Given the description of an element on the screen output the (x, y) to click on. 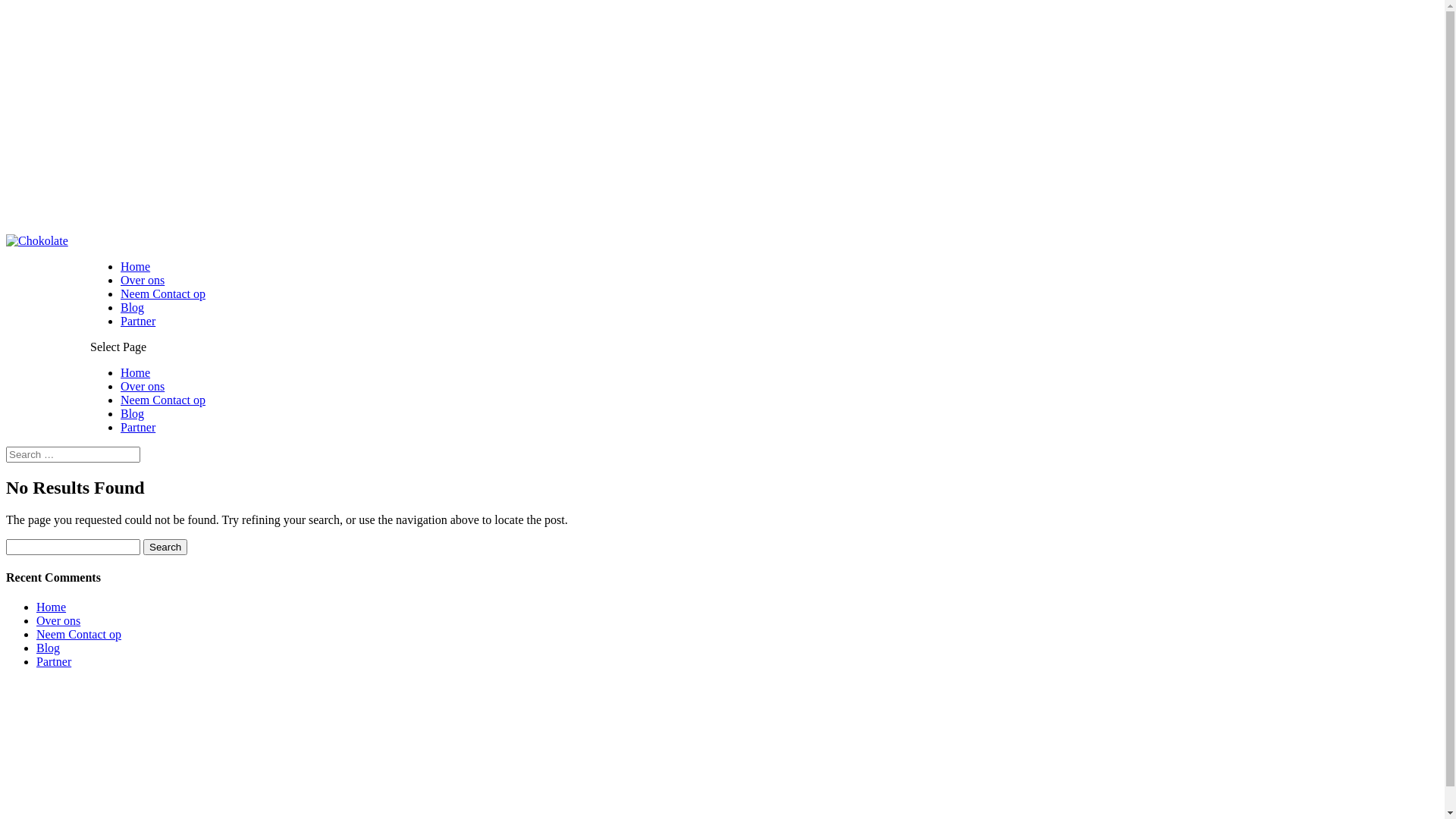
Neem Contact op Element type: text (78, 633)
Search Element type: text (165, 547)
Blog Element type: text (132, 307)
Over ons Element type: text (142, 385)
Search for: Element type: hover (73, 454)
Home Element type: text (135, 372)
Home Element type: text (50, 606)
Neem Contact op Element type: text (162, 293)
Home Element type: text (135, 266)
Over ons Element type: text (142, 279)
Blog Element type: text (47, 647)
Neem Contact op Element type: text (162, 399)
Over ons Element type: text (58, 620)
Blog Element type: text (132, 413)
Partner Element type: text (137, 426)
Partner Element type: text (137, 320)
Partner Element type: text (53, 661)
